Given the description of an element on the screen output the (x, y) to click on. 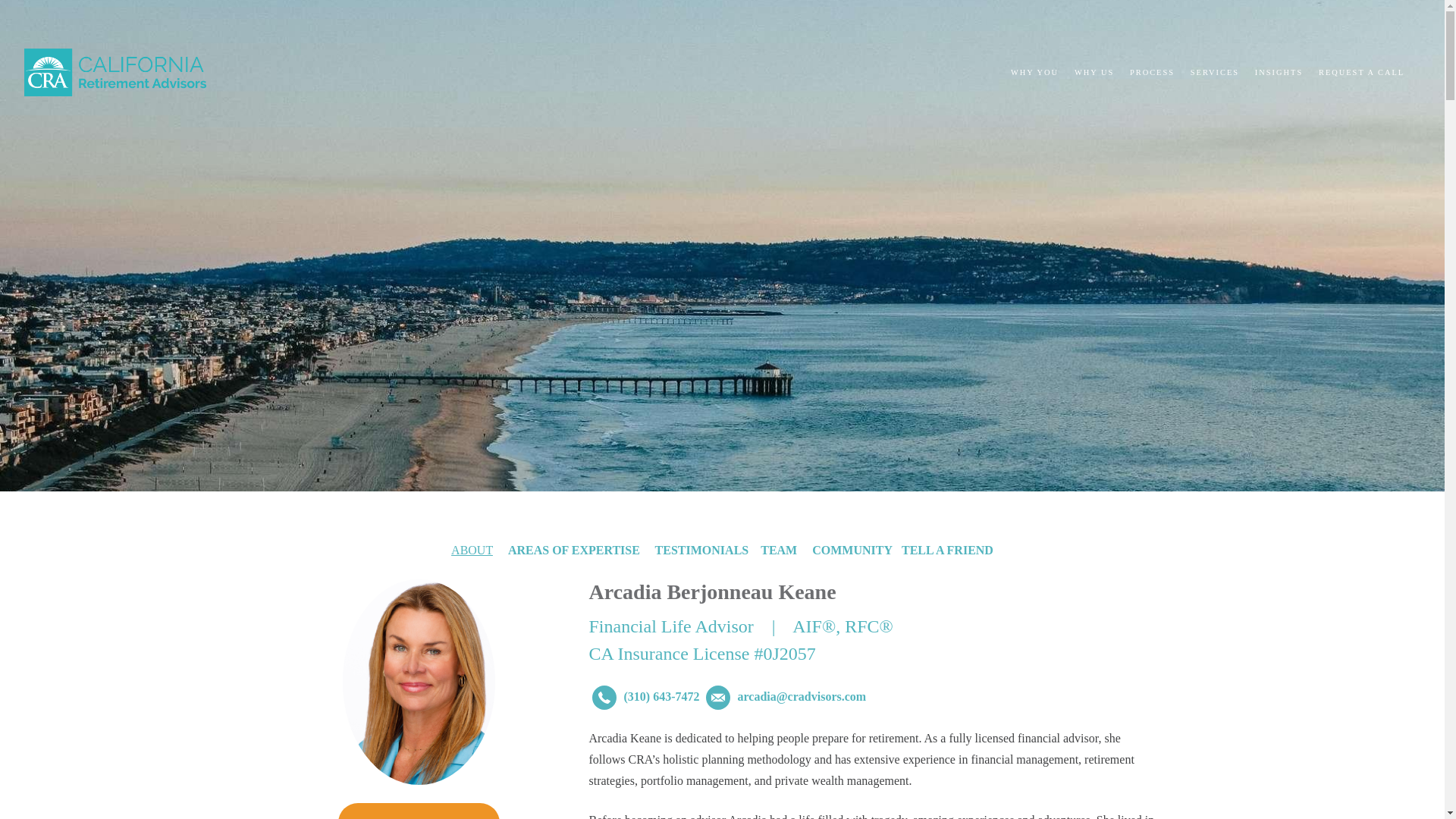
INSIGHTS (1279, 72)
TEAM (778, 549)
WHY US (1093, 72)
SCHEDULE A MEETING (418, 811)
AREAS OF EXPERTISE (574, 549)
PROCESS (1151, 72)
TELL A FRIEND (946, 549)
WHY YOU (1034, 72)
COMMUNITY (852, 549)
TESTIMONIALS (700, 549)
